Given the description of an element on the screen output the (x, y) to click on. 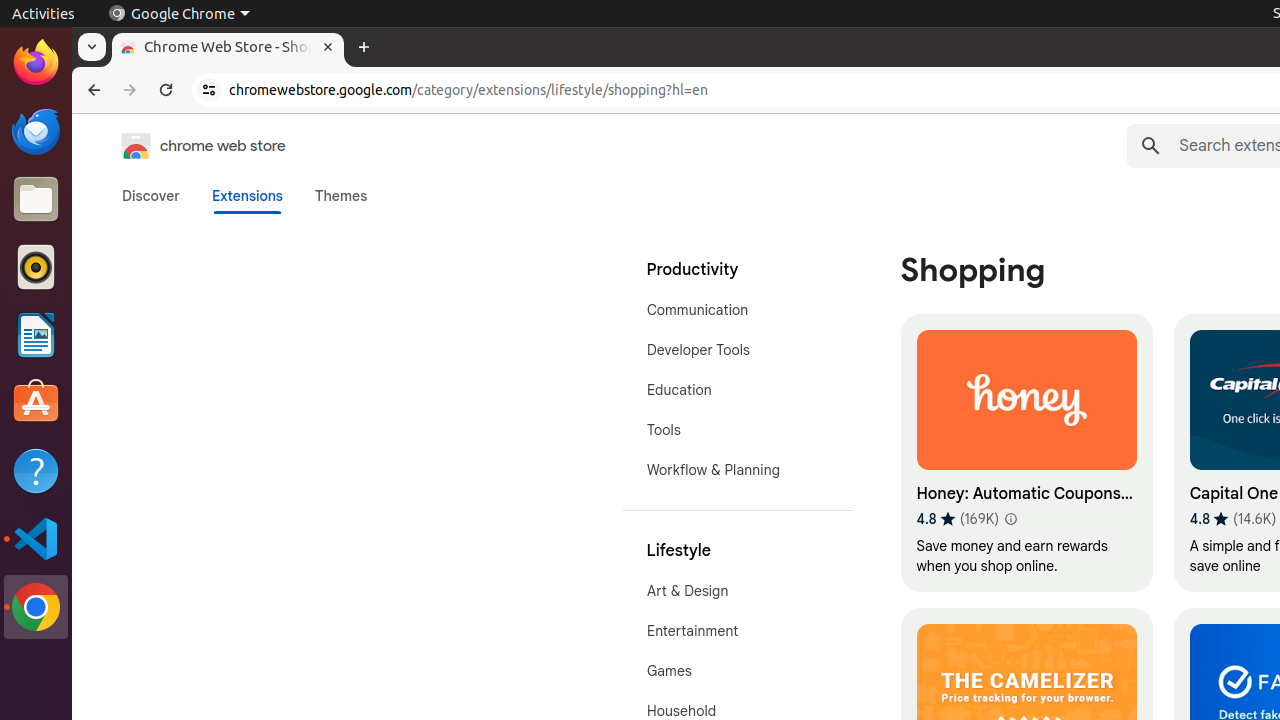
Themes Element type: page-tab (341, 196)
Files Element type: push-button (36, 199)
Google Chrome Element type: menu (179, 13)
Tools Element type: menu-item (737, 430)
Art & Design Element type: menu-item (737, 591)
